Given the description of an element on the screen output the (x, y) to click on. 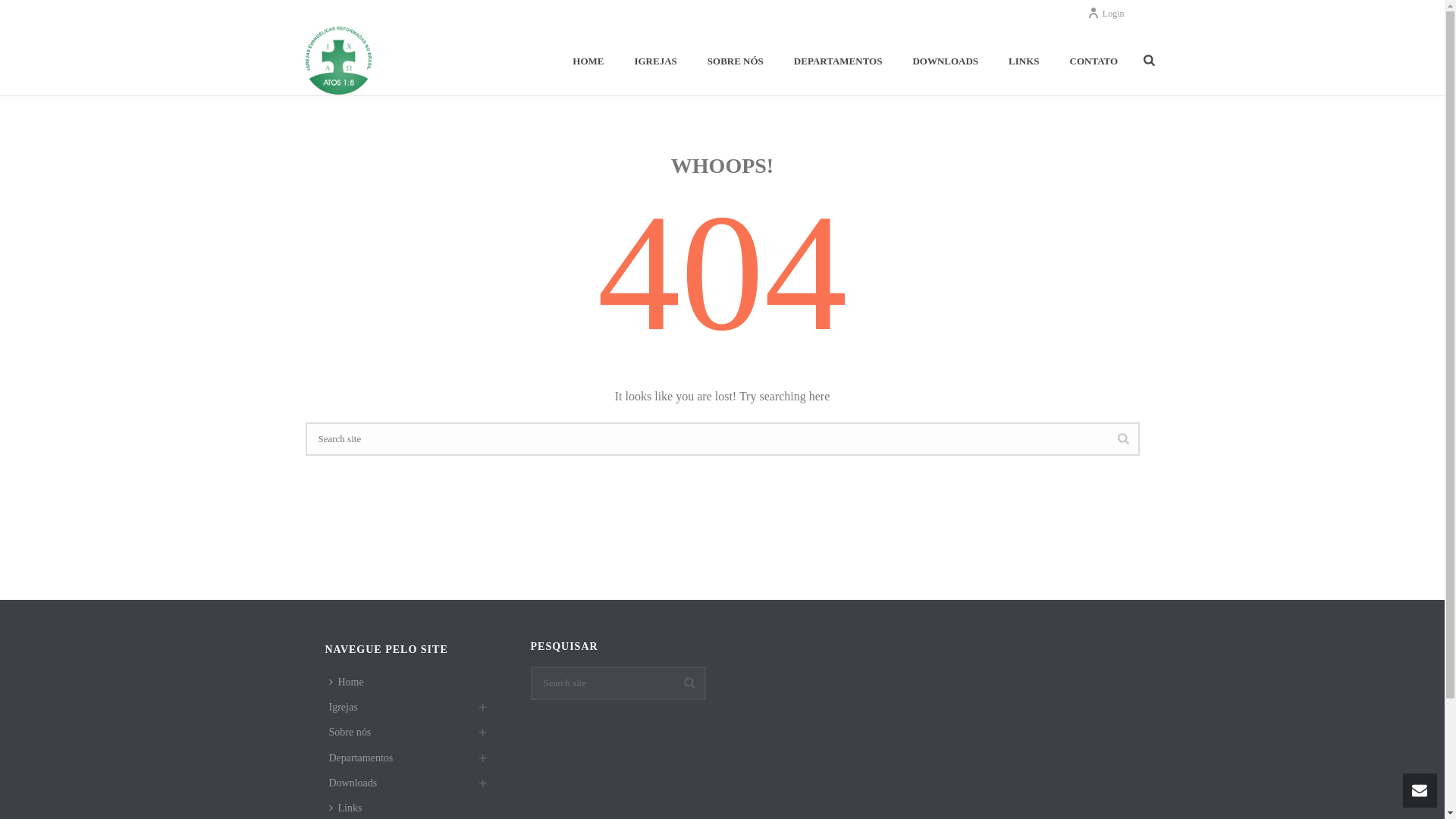
HOME (587, 61)
DOWNLOADS (944, 61)
DEPARTAMENTOS (838, 61)
Login (1105, 13)
LINKS (1023, 61)
IGREJAS (654, 61)
HOME (587, 61)
CONTATO (1094, 61)
DOWNLOADS (944, 61)
DEPARTAMENTOS (838, 61)
LINKS (1023, 61)
CONTATO (1094, 61)
IGREJAS (654, 61)
